Given the description of an element on the screen output the (x, y) to click on. 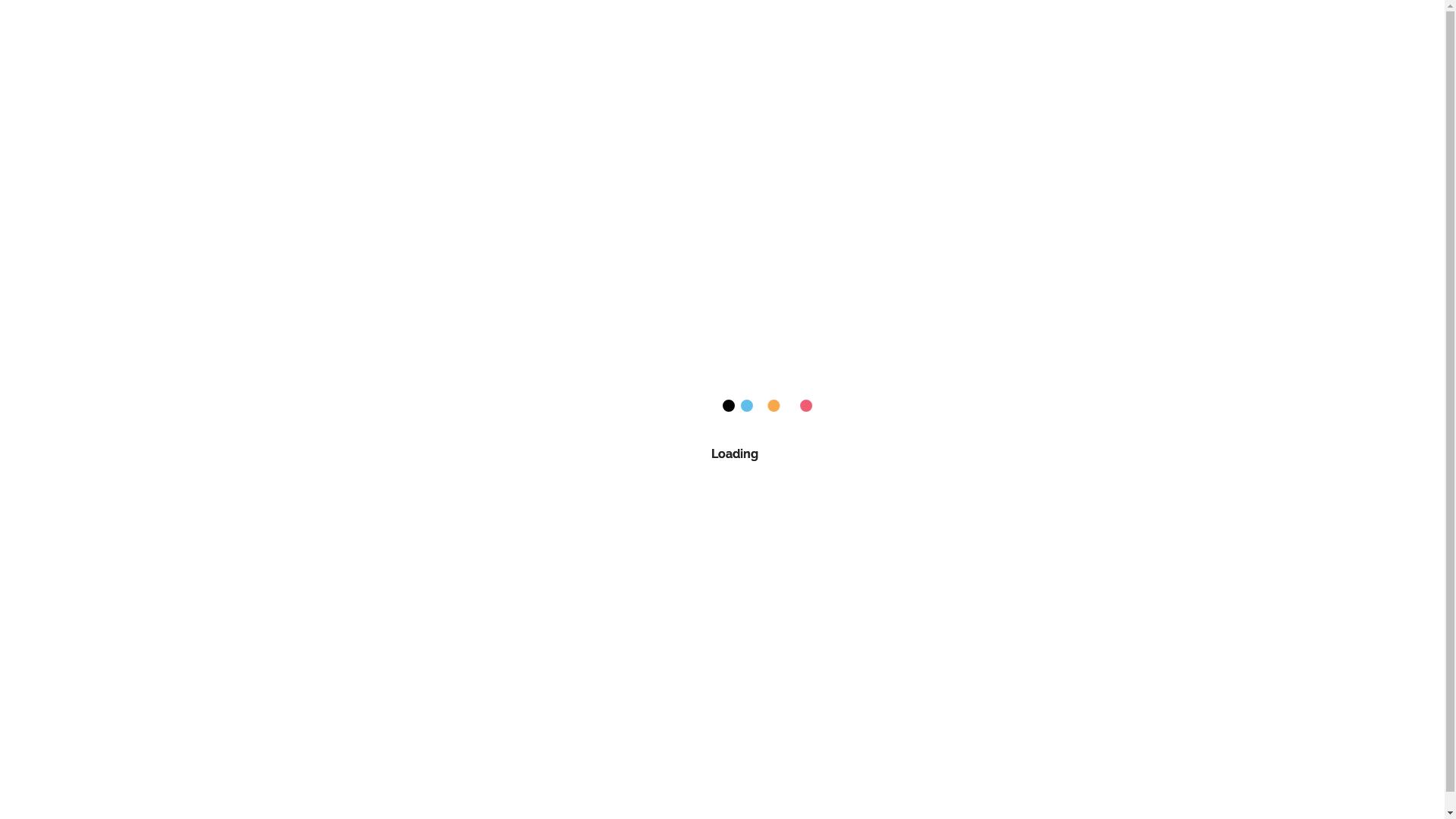
Bamcard Element type: hover (321, 25)
